Given the description of an element on the screen output the (x, y) to click on. 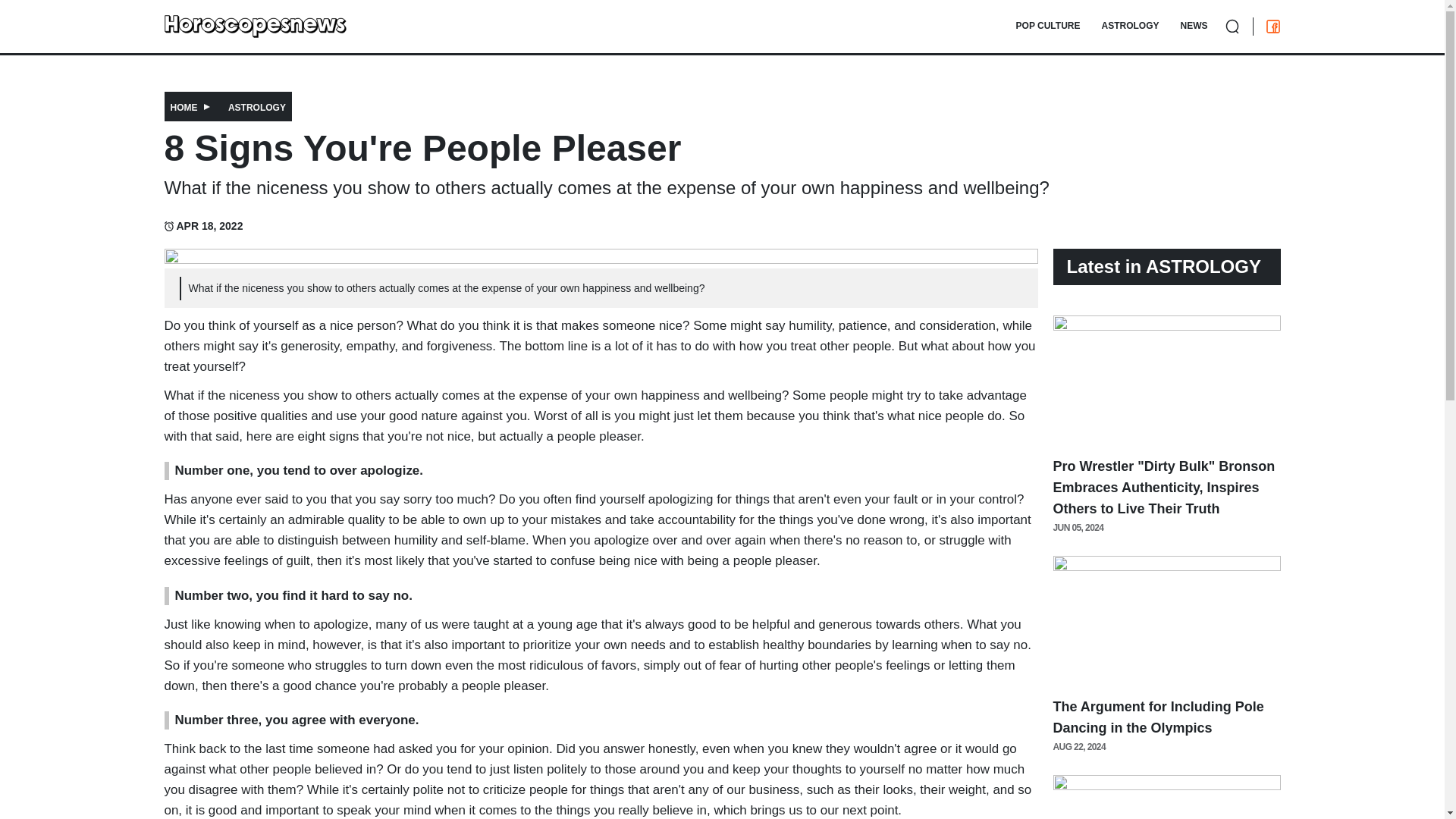
ASTROLOGY (256, 107)
POP CULTURE (1046, 25)
HOME (183, 107)
NEWS (1191, 25)
The Argument for Including Pole Dancing in the Olympics (1157, 717)
ASTROLOGY (1128, 25)
